Given the description of an element on the screen output the (x, y) to click on. 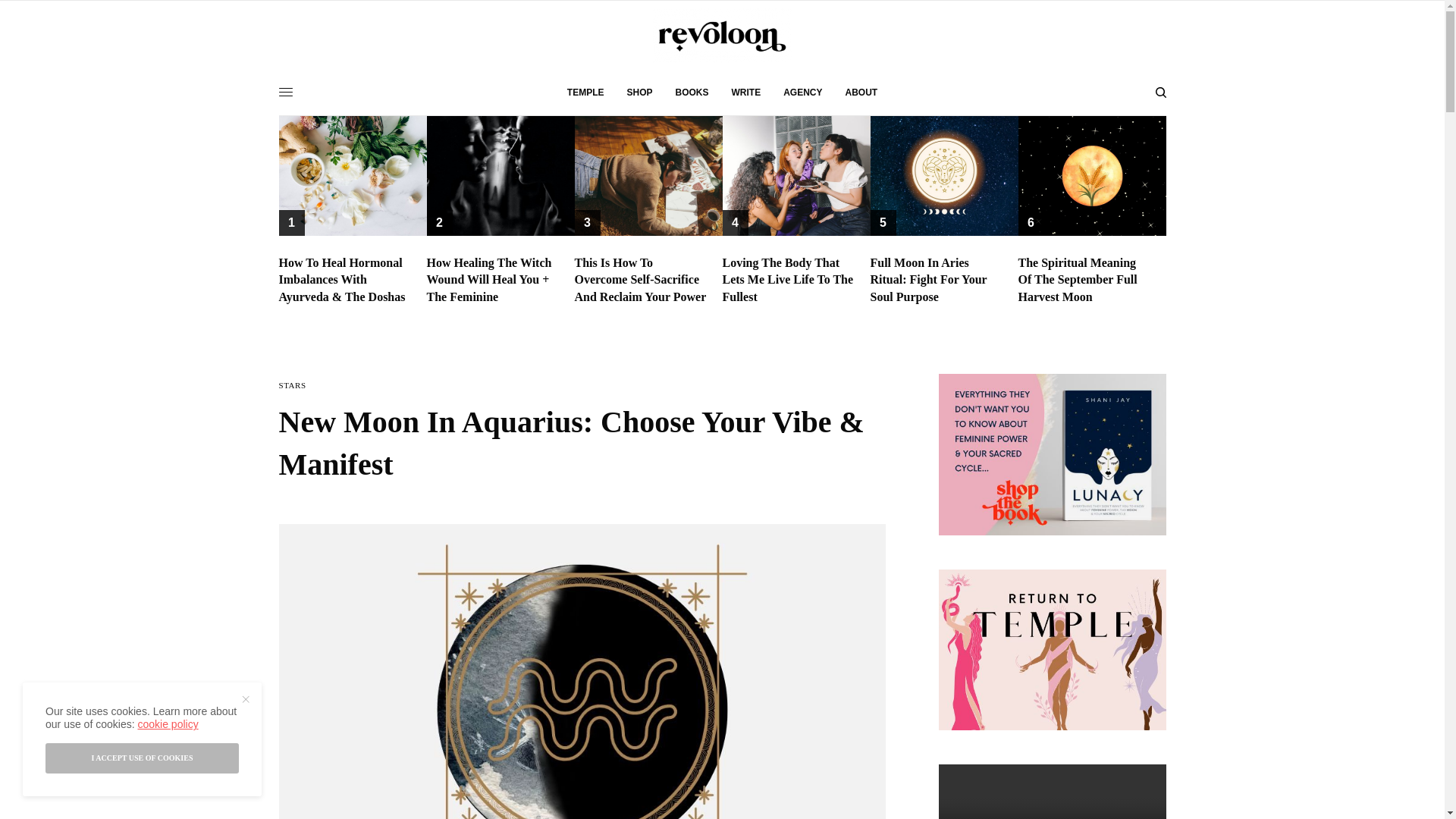
Full Moon In Aries Ritual: Fight For Your Soul Purpose (937, 279)
The Spiritual Meaning Of The September Full Harvest Moon (1084, 279)
Full Moon In Aries Ritual: Fight For Your Soul Purpose (937, 279)
Loving The Body That Lets Me Live Life To The Fullest (789, 279)
The Spiritual Meaning Of The September Full Harvest Moon (1084, 279)
Revoloon (722, 35)
Loving The Body That Lets Me Live Life To The Fullest (789, 279)
